Given the description of an element on the screen output the (x, y) to click on. 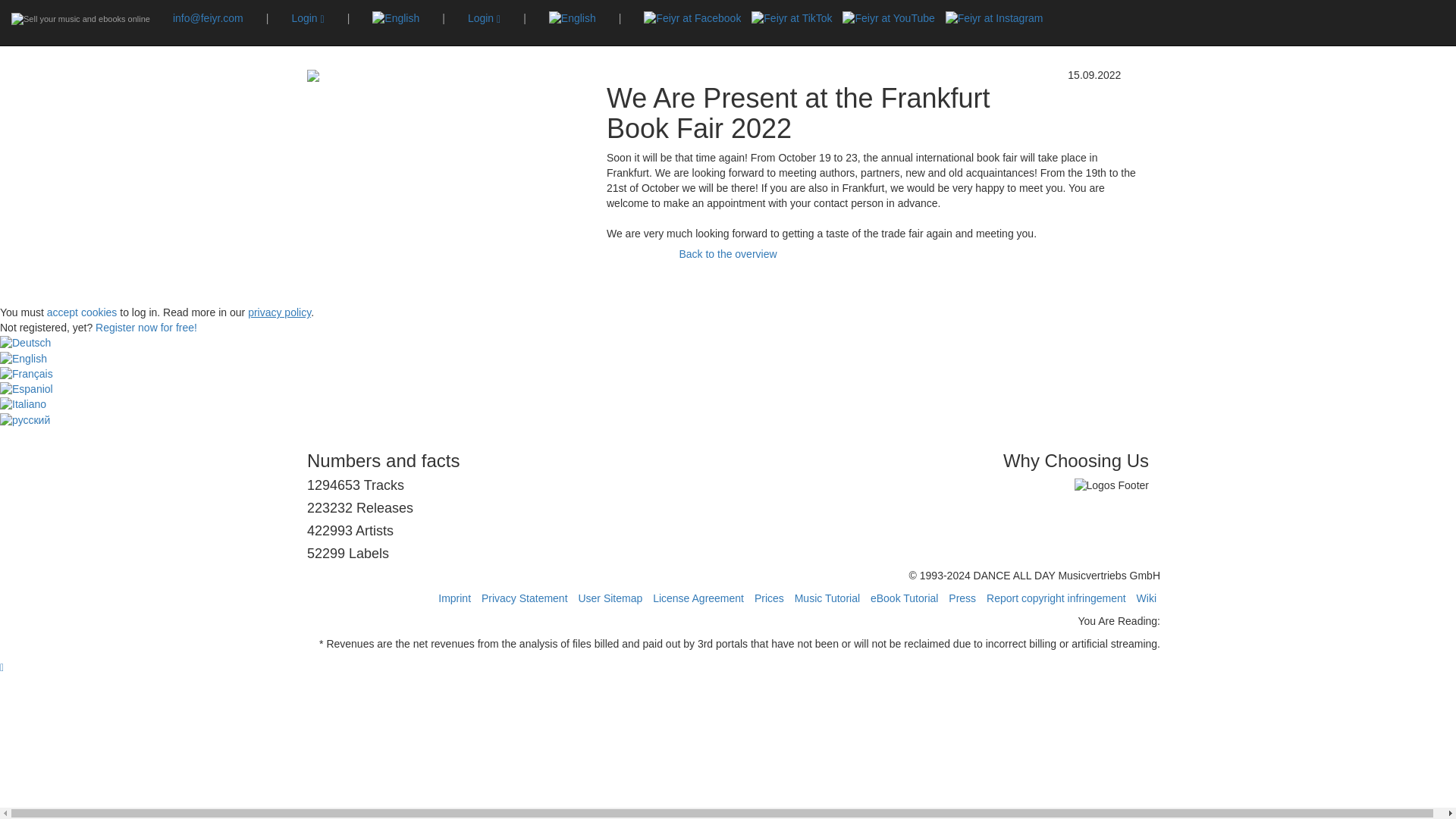
Sign up (558, 12)
accept cookies (81, 312)
Promo (397, 12)
Partners (308, 12)
Back to the overview (727, 254)
References (355, 12)
Register now for free! (146, 327)
Contact (501, 12)
Espaniol (26, 389)
English (23, 359)
Deutsch (25, 343)
Service (269, 12)
Italiano (23, 404)
Login (307, 18)
privacy policy (279, 312)
